Given the description of an element on the screen output the (x, y) to click on. 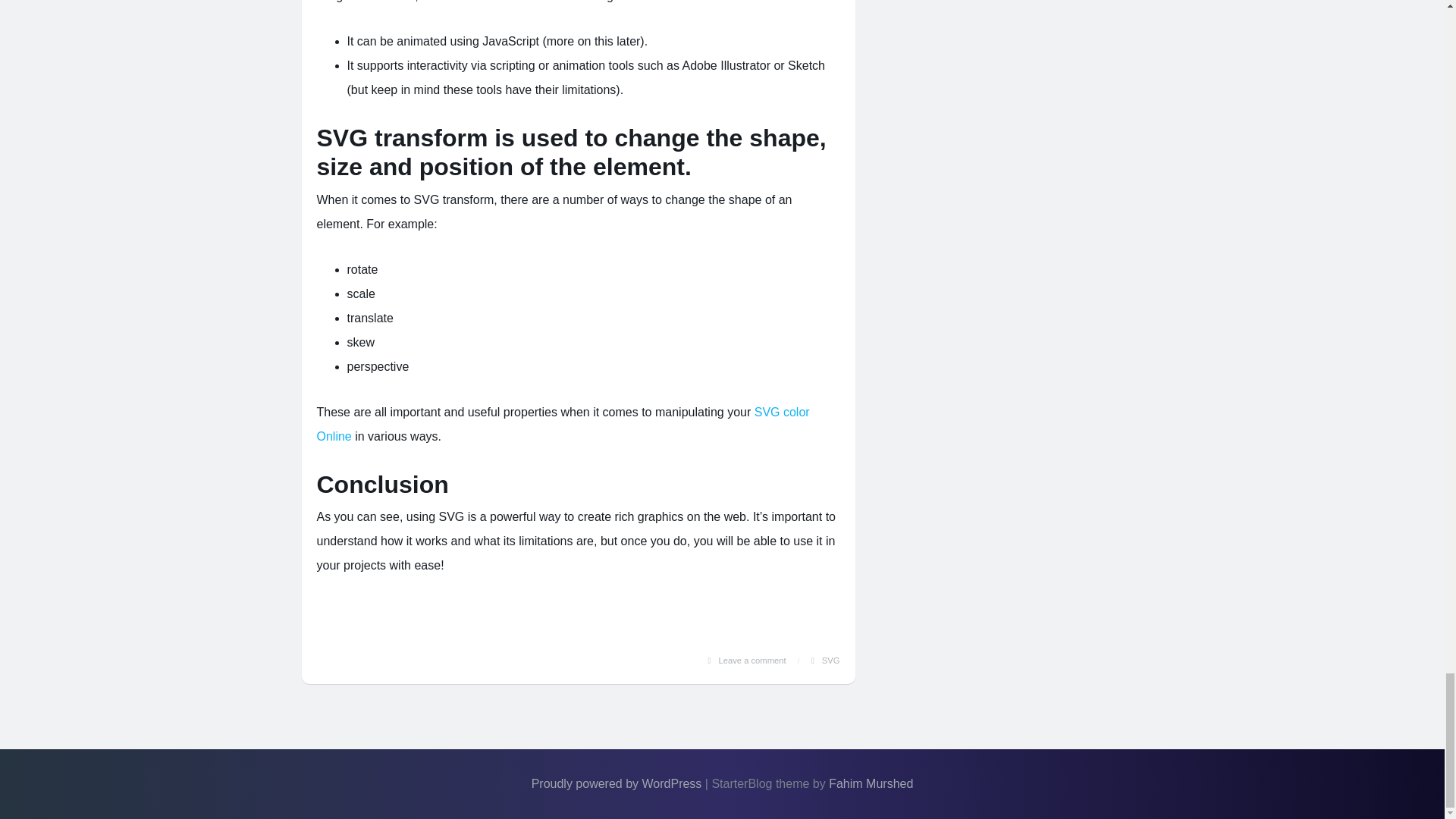
SVG color Online (563, 424)
Leave a comment (752, 660)
SVG (831, 660)
